Given the description of an element on the screen output the (x, y) to click on. 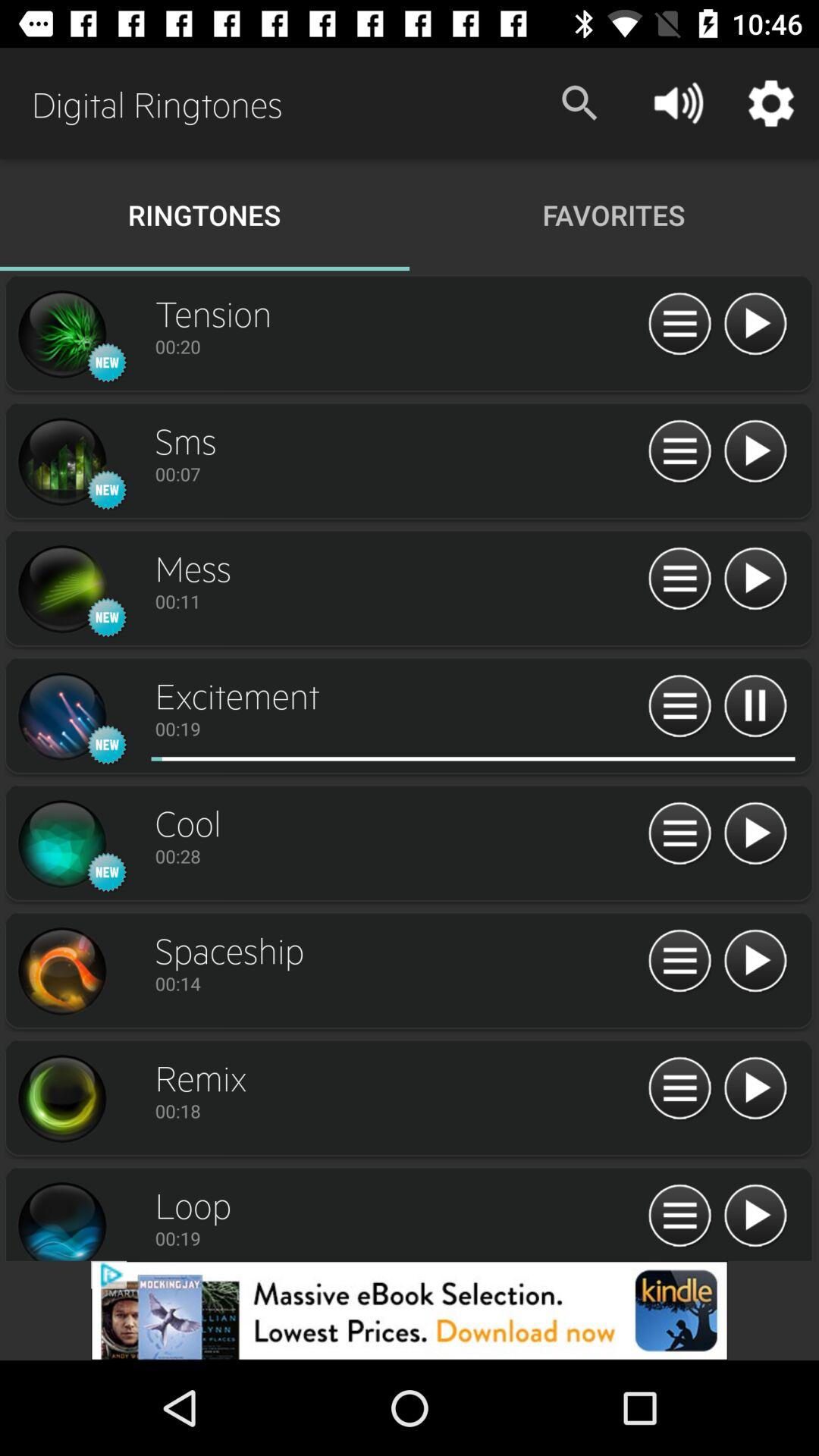
play (755, 451)
